Given the description of an element on the screen output the (x, y) to click on. 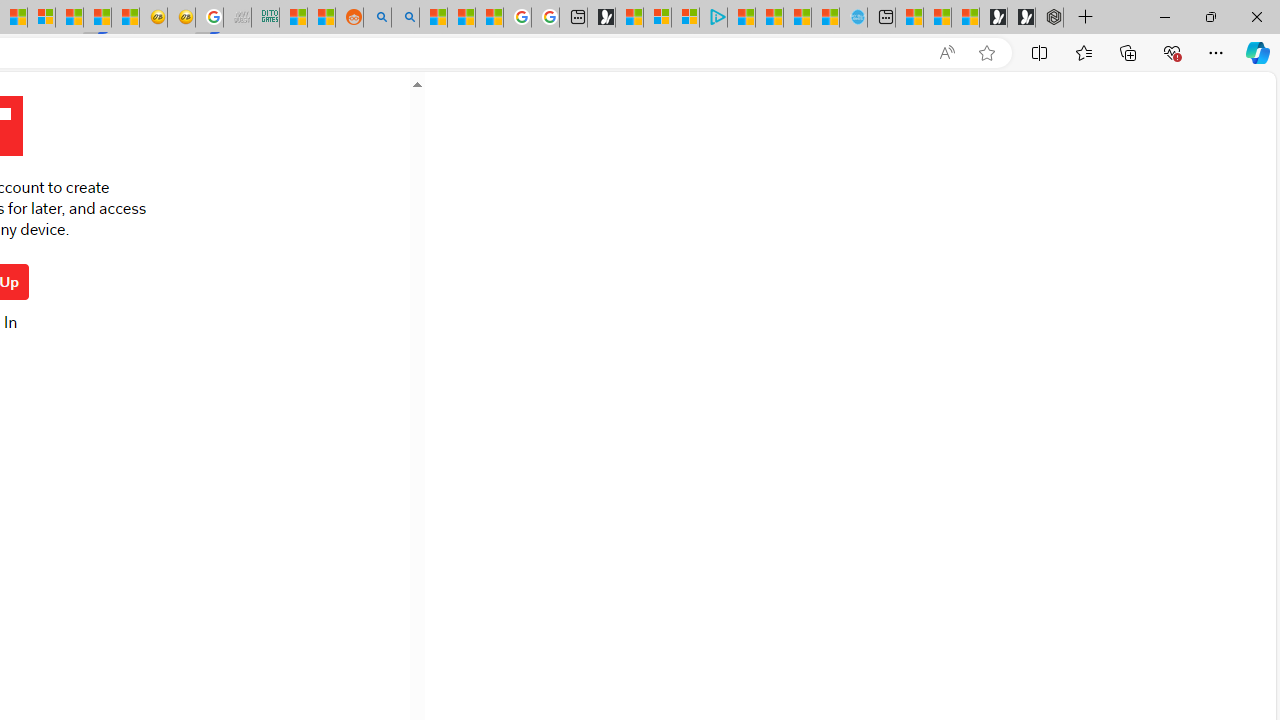
DITOGAMES AG Imprint (265, 17)
Nordace - Nordace Siena Is Not An Ordinary Backpack (1049, 17)
